Given the description of an element on the screen output the (x, y) to click on. 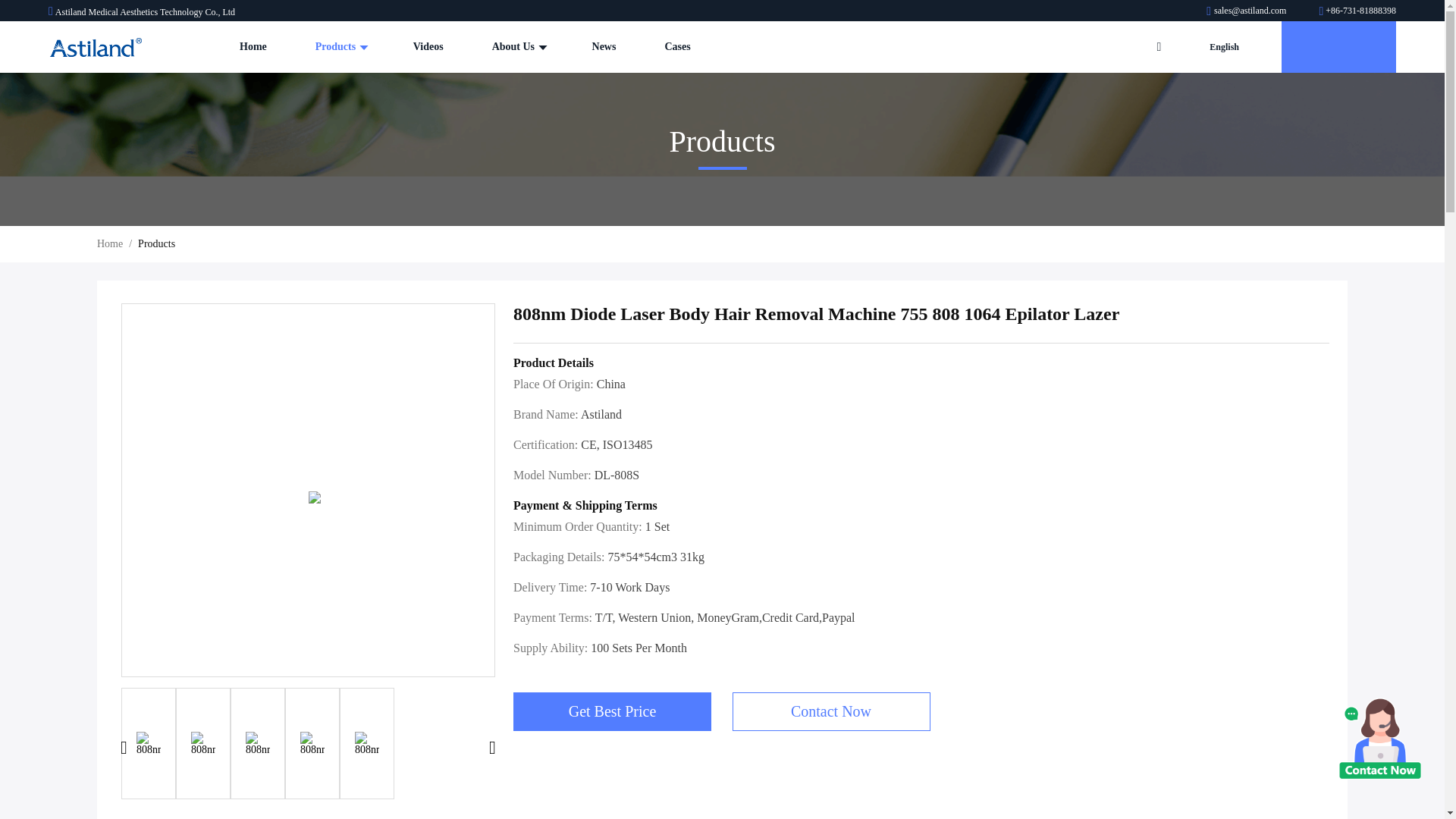
Astiland Medical Aesthetics Technology Co., Ltd (1247, 9)
Products (340, 46)
Astiland Medical Aesthetics Technology Co., Ltd (96, 46)
Products (340, 46)
About Us (517, 46)
Astiland Medical Aesthetics Technology Co., Ltd (1357, 9)
